Given the description of an element on the screen output the (x, y) to click on. 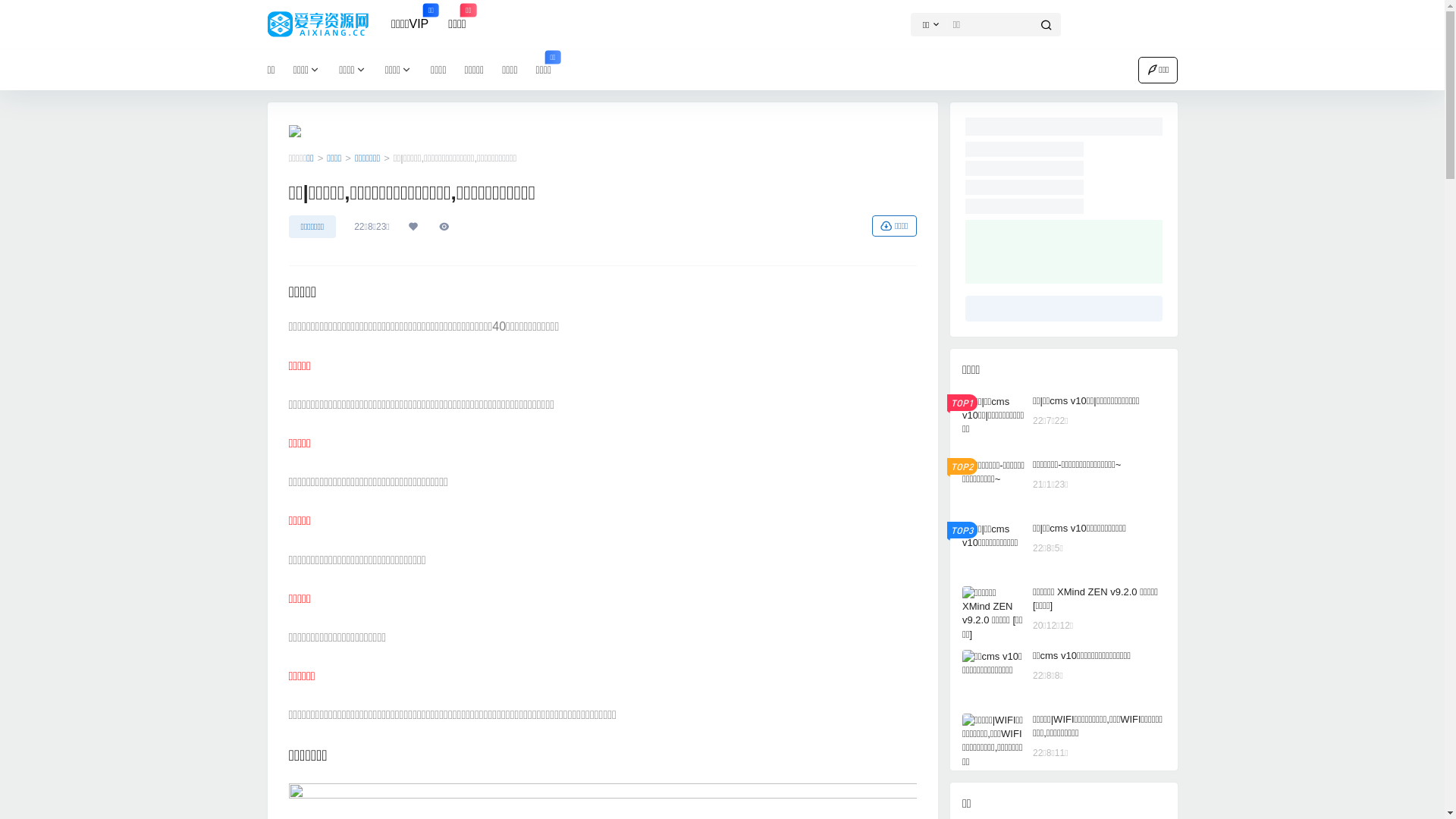
ok Element type: text (10, 10)
